Given the description of an element on the screen output the (x, y) to click on. 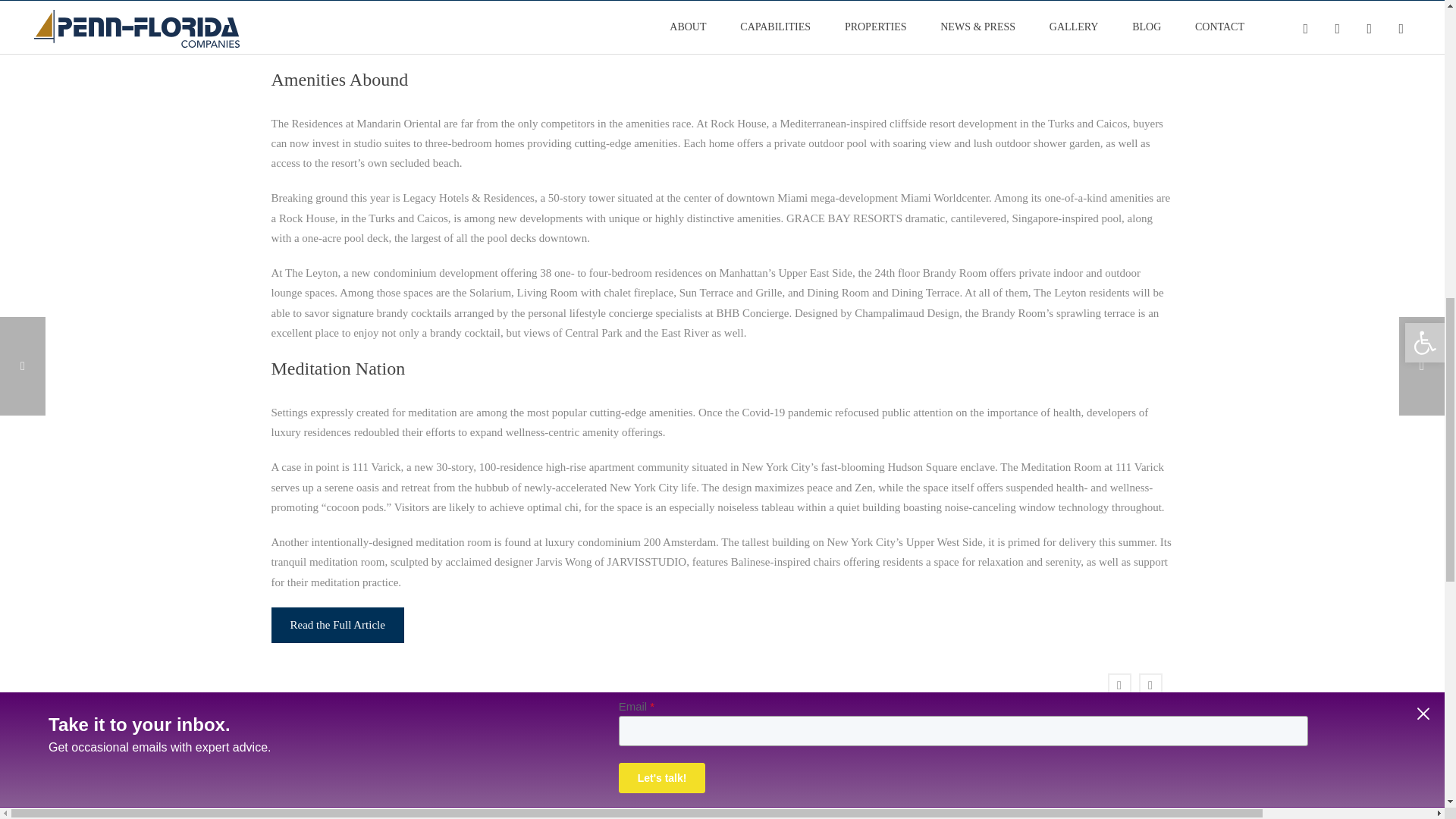
NEW YORK POST (386, 799)
INSTITUTIONAL REAL ESTATE (833, 799)
CONNECT CRE (610, 799)
COMMERCIAL OBSERVER (1058, 799)
